Given the description of an element on the screen output the (x, y) to click on. 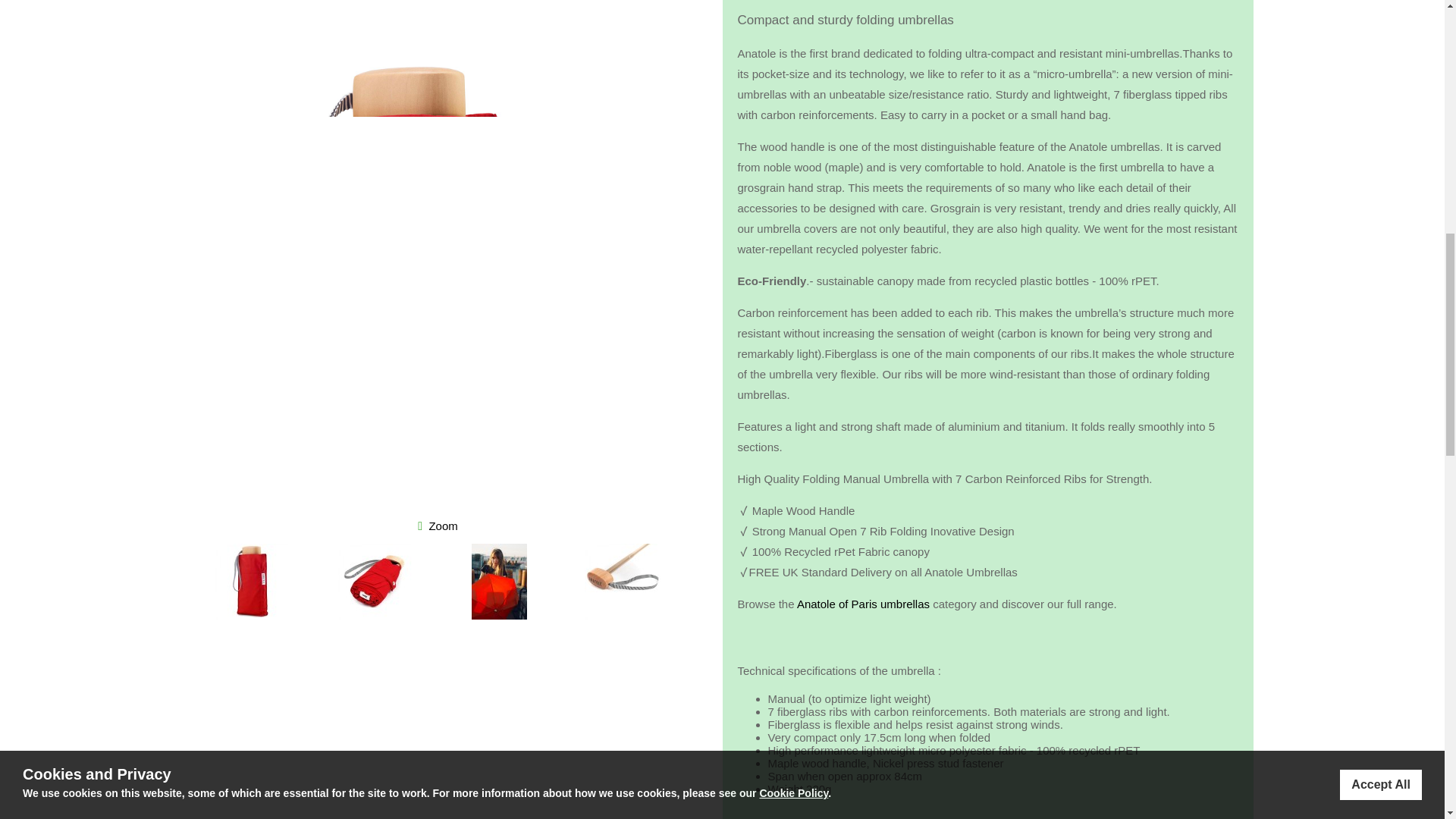
Anatole of Paris umbrellas (863, 603)
Anatole of Paris umbrellas (863, 603)
